Given the description of an element on the screen output the (x, y) to click on. 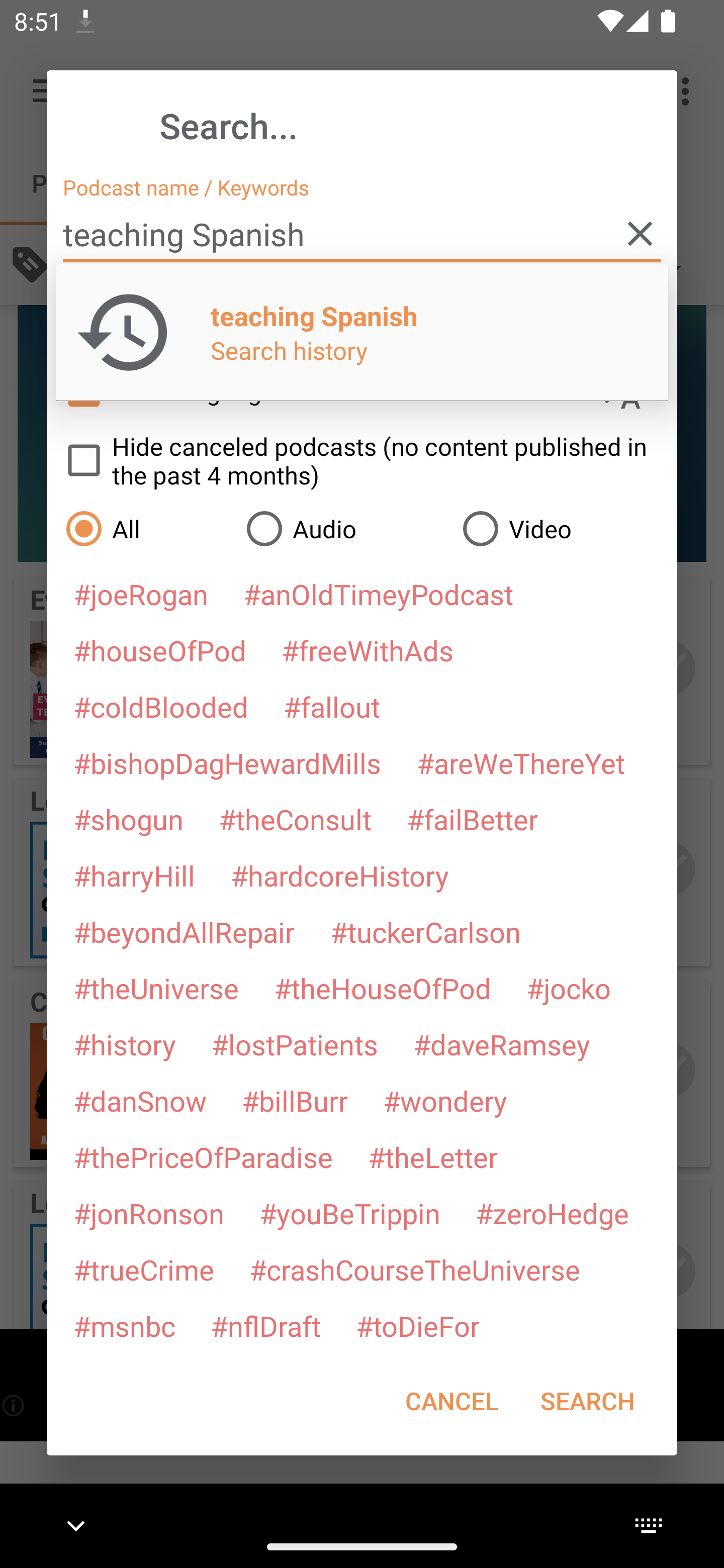
teaching Spanish (361, 234)
All (145, 528)
Audio (344, 528)
Video (560, 528)
#joeRogan (140, 594)
#anOldTimeyPodcast (378, 594)
#houseOfPod (159, 650)
#freeWithAds (367, 650)
#coldBlooded (160, 705)
#fallout (331, 705)
#bishopDagHewardMills (227, 762)
#areWeThereYet (521, 762)
#shogun (128, 818)
#theConsult (294, 818)
#failBetter (471, 818)
#harryHill (134, 875)
#hardcoreHistory (339, 875)
#beyondAllRepair (184, 931)
#tuckerCarlson (425, 931)
#theUniverse (155, 987)
#theHouseOfPod (381, 987)
#jocko (568, 987)
#history (124, 1044)
#lostPatients (294, 1044)
#daveRamsey (501, 1044)
#danSnow (139, 1100)
#billBurr (294, 1100)
#wondery (444, 1100)
#thePriceOfParadise (203, 1157)
#theLetter (432, 1157)
#jonRonson (148, 1213)
#youBeTrippin (349, 1213)
#zeroHedge (552, 1213)
#trueCrime (143, 1268)
#crashCourseTheUniverse (414, 1268)
#msnbc (124, 1325)
#nflDraft (265, 1325)
#toDieFor (417, 1325)
CANCEL (451, 1400)
SEARCH (587, 1400)
